Given the description of an element on the screen output the (x, y) to click on. 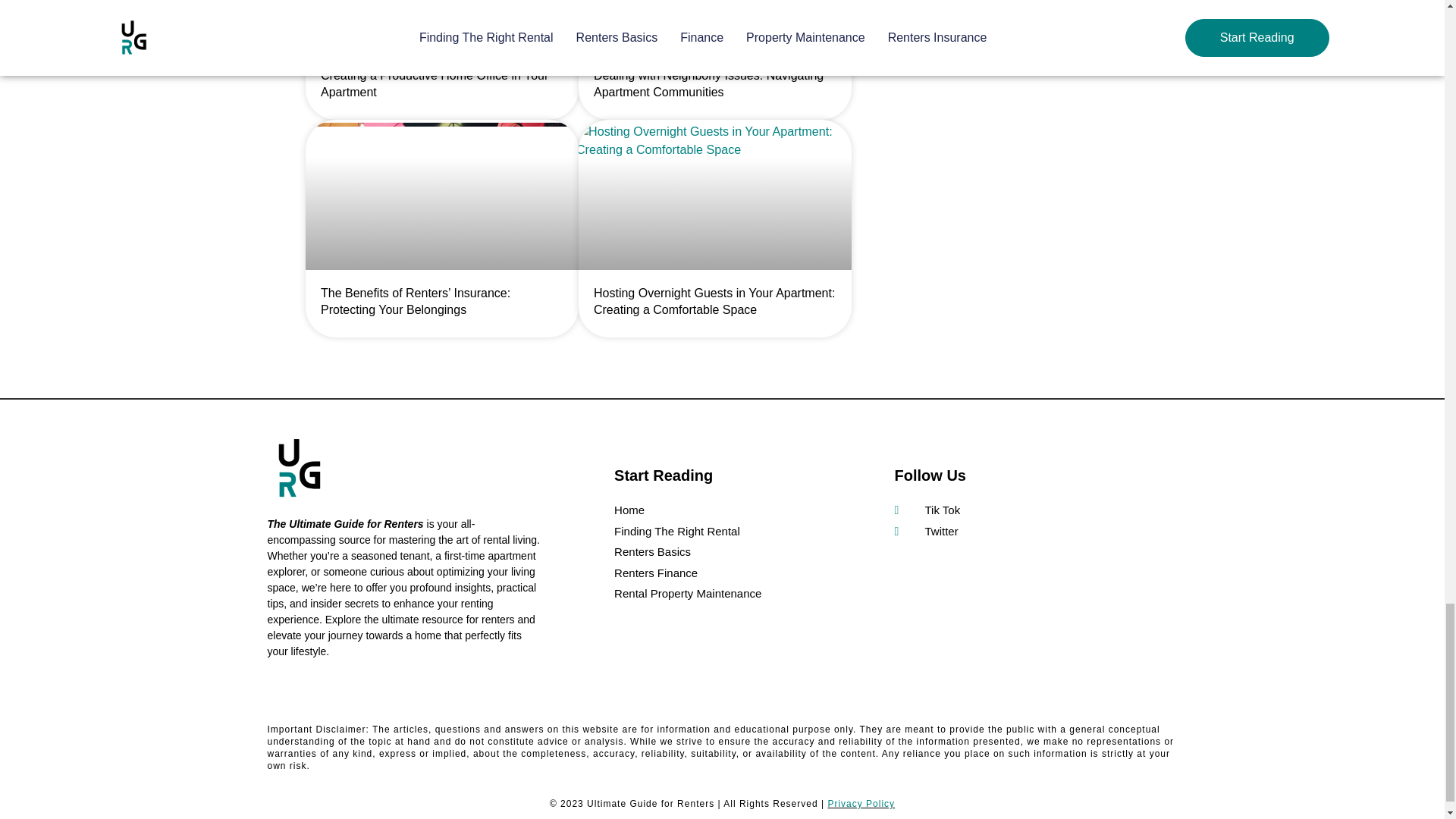
Creating a Productive Home Office in Your Apartment (433, 83)
